Given the description of an element on the screen output the (x, y) to click on. 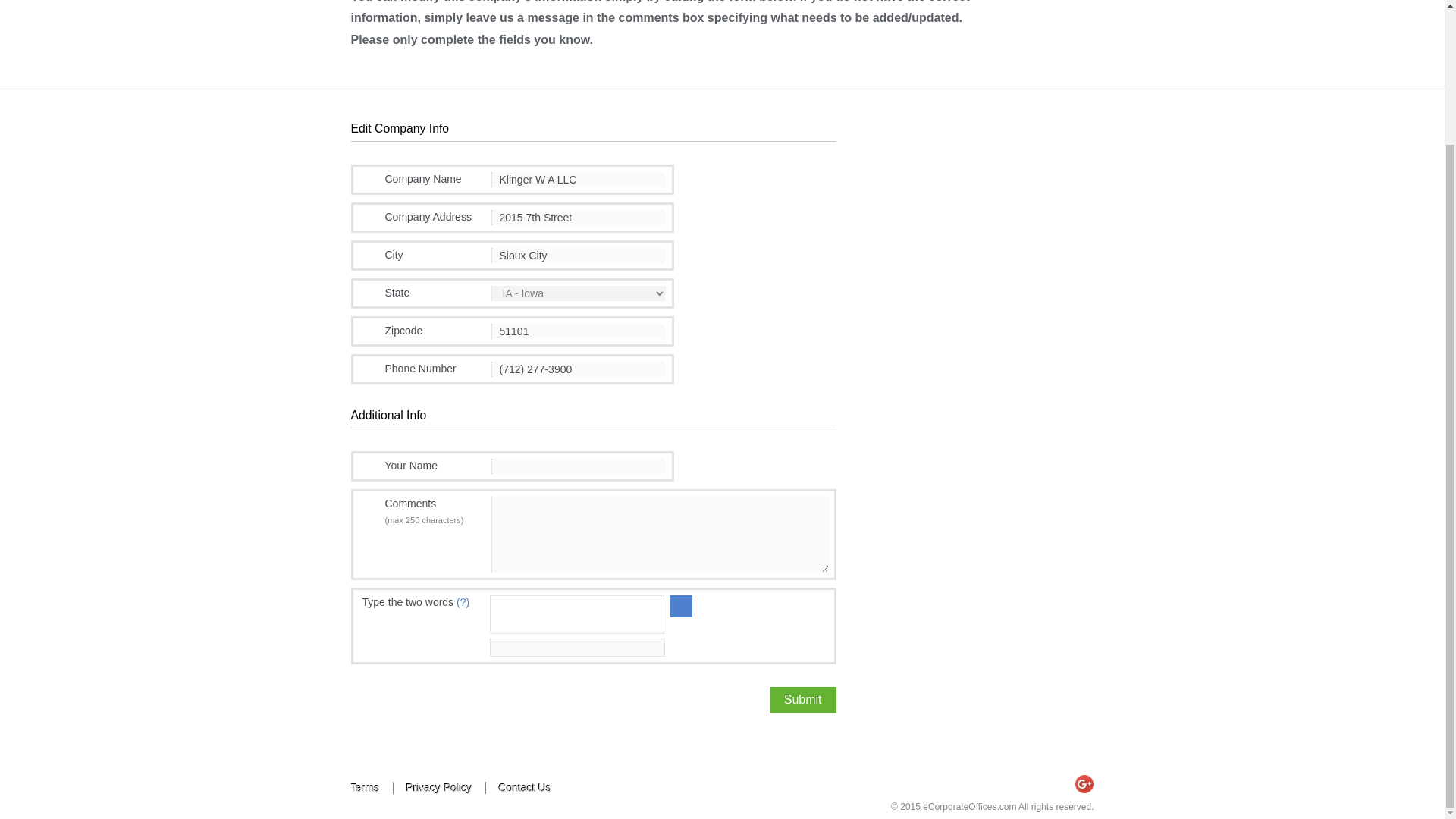
Contact Us (525, 787)
Privacy Policy (439, 787)
Klinger W A LLC (578, 179)
2015 7th Street (578, 217)
Follow us on Facebook (1053, 783)
51101 (578, 331)
Sioux City (578, 255)
Submit (802, 699)
Terms (371, 787)
